Given the description of an element on the screen output the (x, y) to click on. 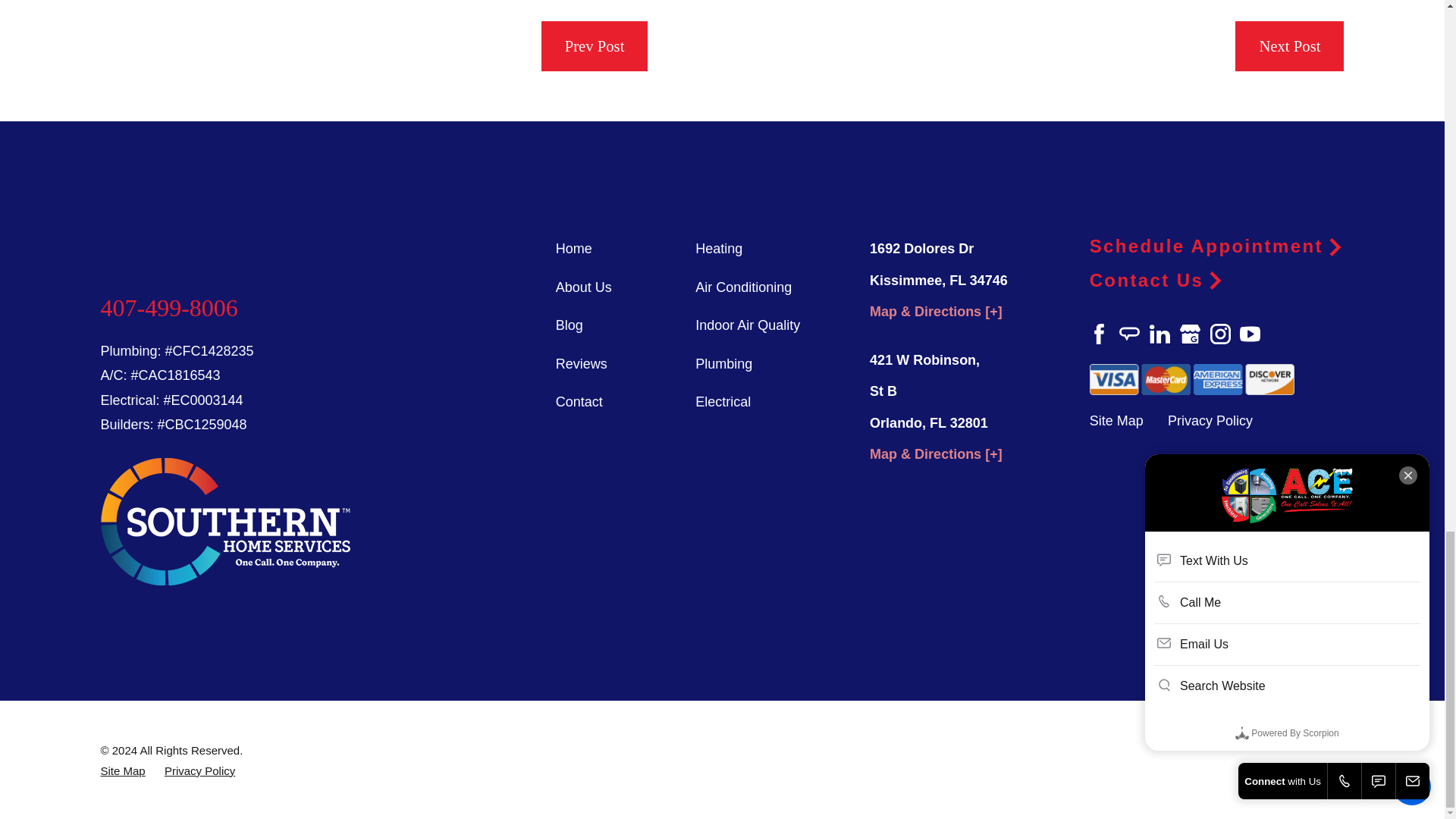
Angie's List (1129, 333)
Facebook (1099, 333)
LinkedIn (1160, 333)
